Given the description of an element on the screen output the (x, y) to click on. 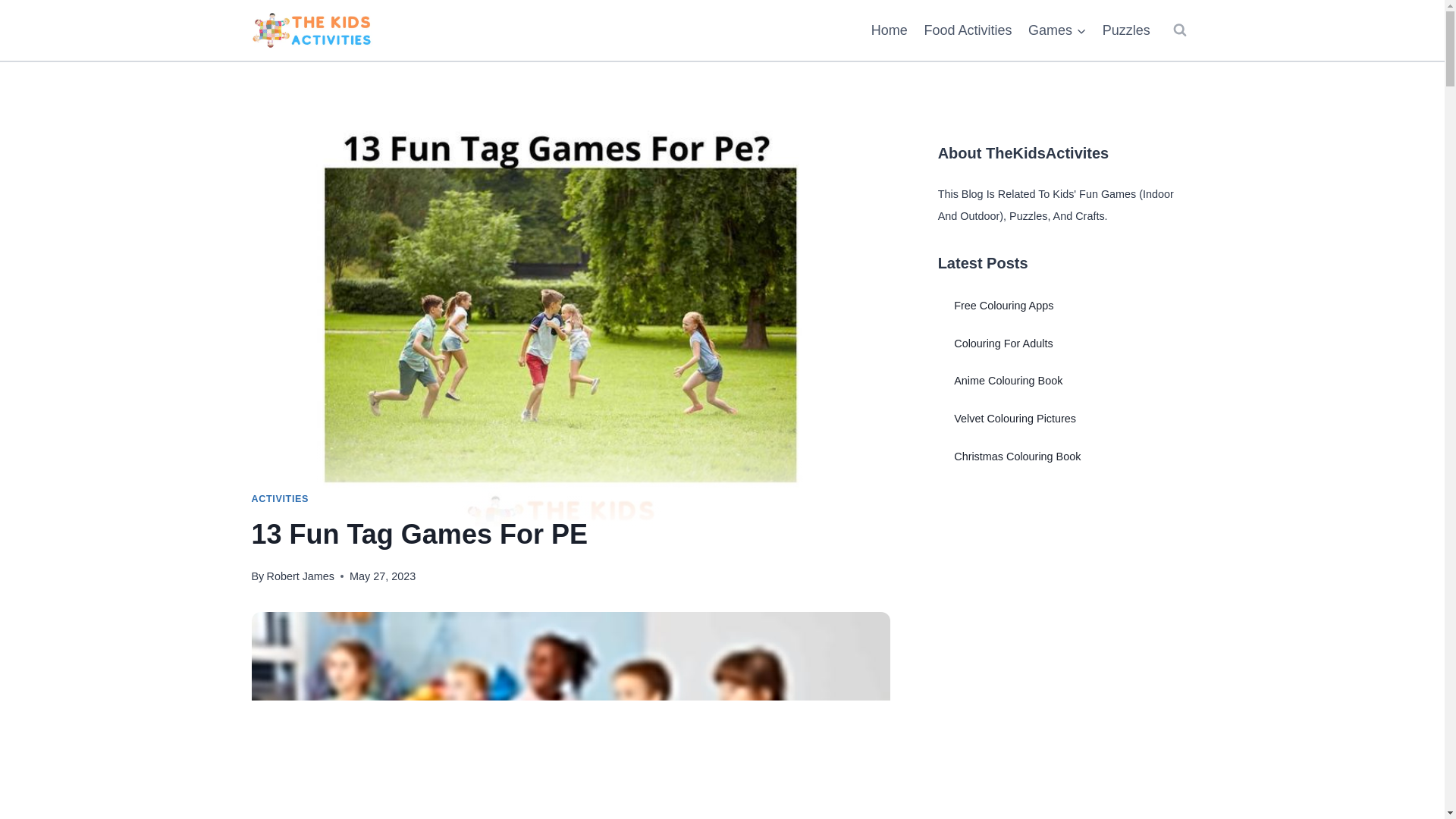
Free Colouring Apps (1002, 305)
Food Activities (967, 30)
Home (889, 30)
Puzzles (1126, 30)
ACTIVITIES (279, 498)
Games (1057, 30)
Robert James (300, 576)
Colouring For Adults (1002, 343)
